Given the description of an element on the screen output the (x, y) to click on. 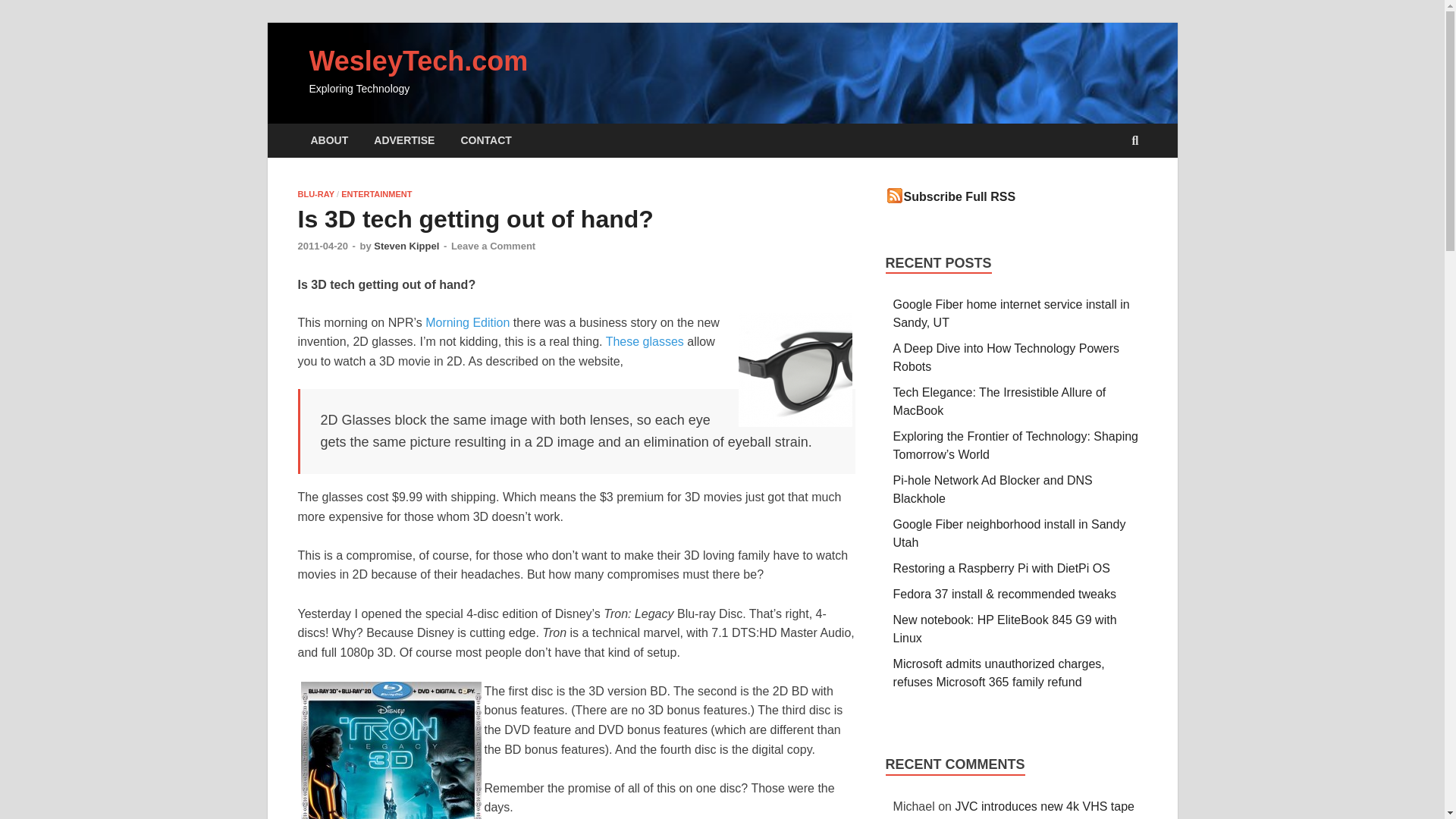
Google Fiber home internet service install in Sandy, UT (1011, 313)
Pi-hole Network Ad Blocker and DNS Blackhole (993, 489)
Restoring a Raspberry Pi with DietPi OS (1001, 567)
Steven Kippel (406, 245)
Google Fiber neighborhood install in Sandy Utah (1009, 532)
Leave a Comment (493, 245)
Tech Elegance: The Irresistible Allure of MacBook (999, 400)
CONTACT (485, 140)
ENTERTAINMENT (376, 194)
2011-04-20 (322, 245)
These glasses (644, 341)
A Deep Dive into How Technology Powers Robots (1006, 357)
Morning Edition (467, 322)
ABOUT (329, 140)
ADVERTISE (403, 140)
